Given the description of an element on the screen output the (x, y) to click on. 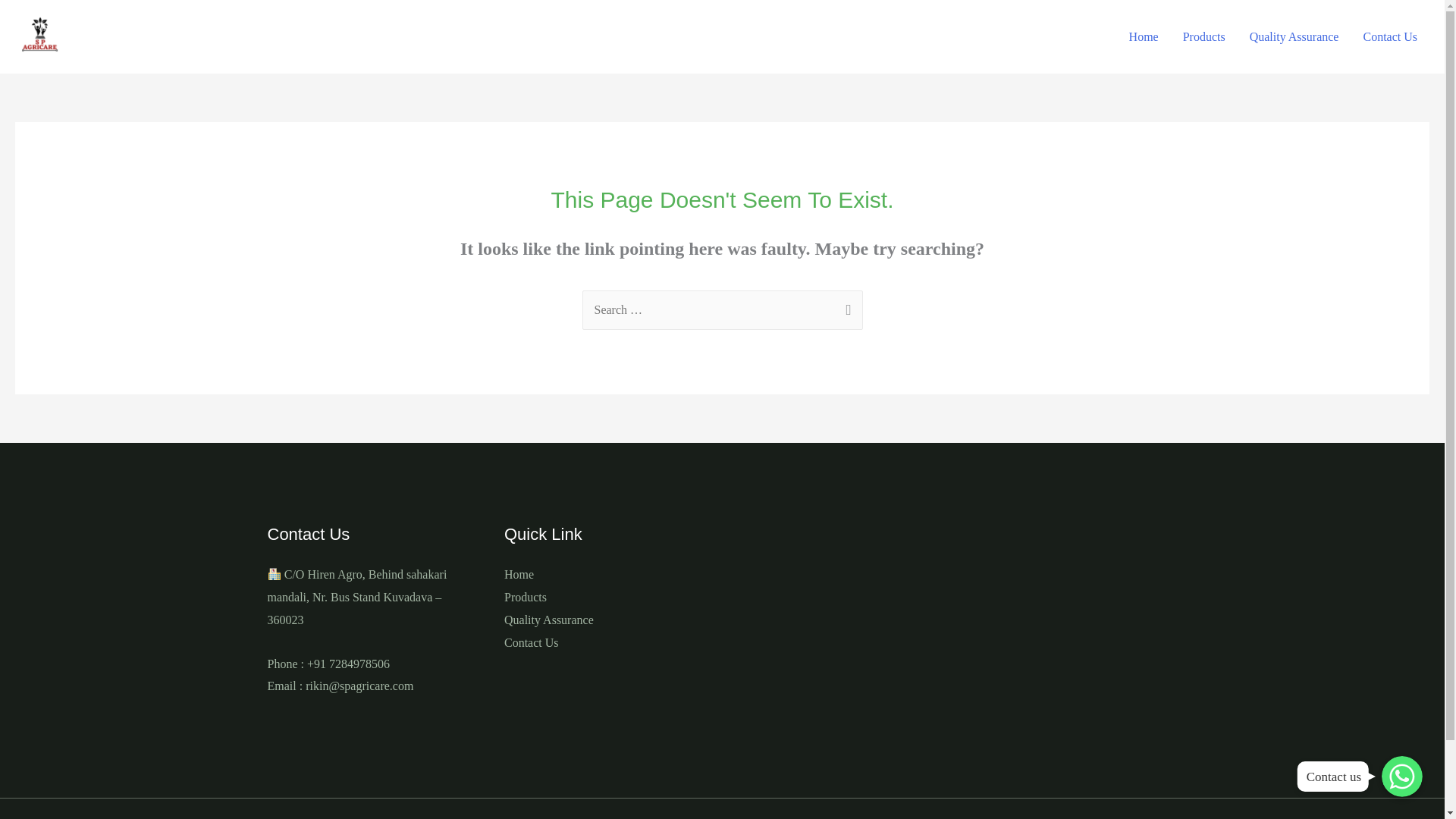
Contact Us (1390, 36)
Quality Assurance (548, 619)
Home (1143, 36)
Products (525, 596)
Home (518, 574)
Contact Us (531, 642)
Products (1203, 36)
Quality Assurance (1294, 36)
WhatsApp (1401, 775)
